Given the description of an element on the screen output the (x, y) to click on. 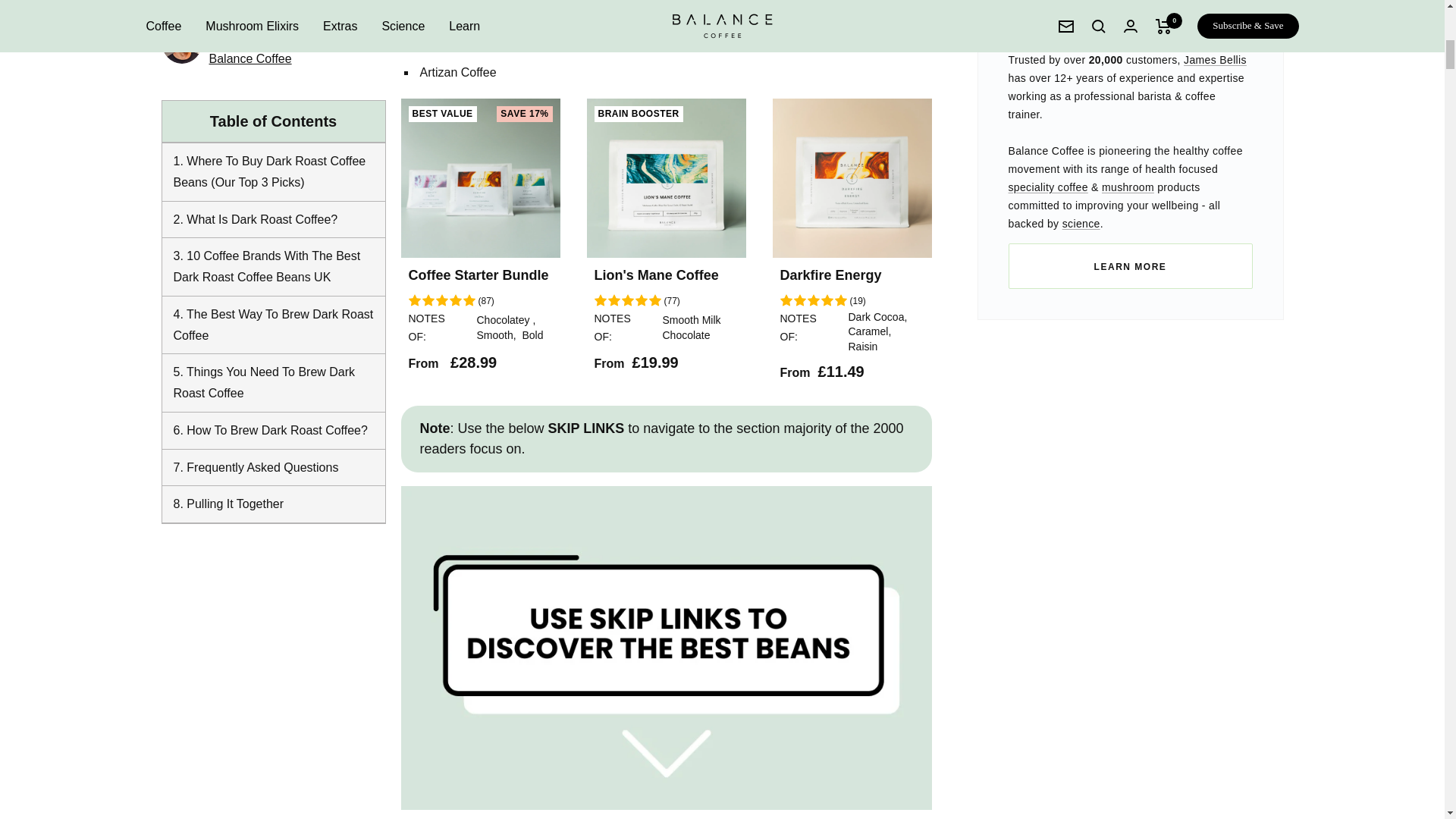
Darkfire Energy (542, 18)
James Bellis (1214, 60)
